Given the description of an element on the screen output the (x, y) to click on. 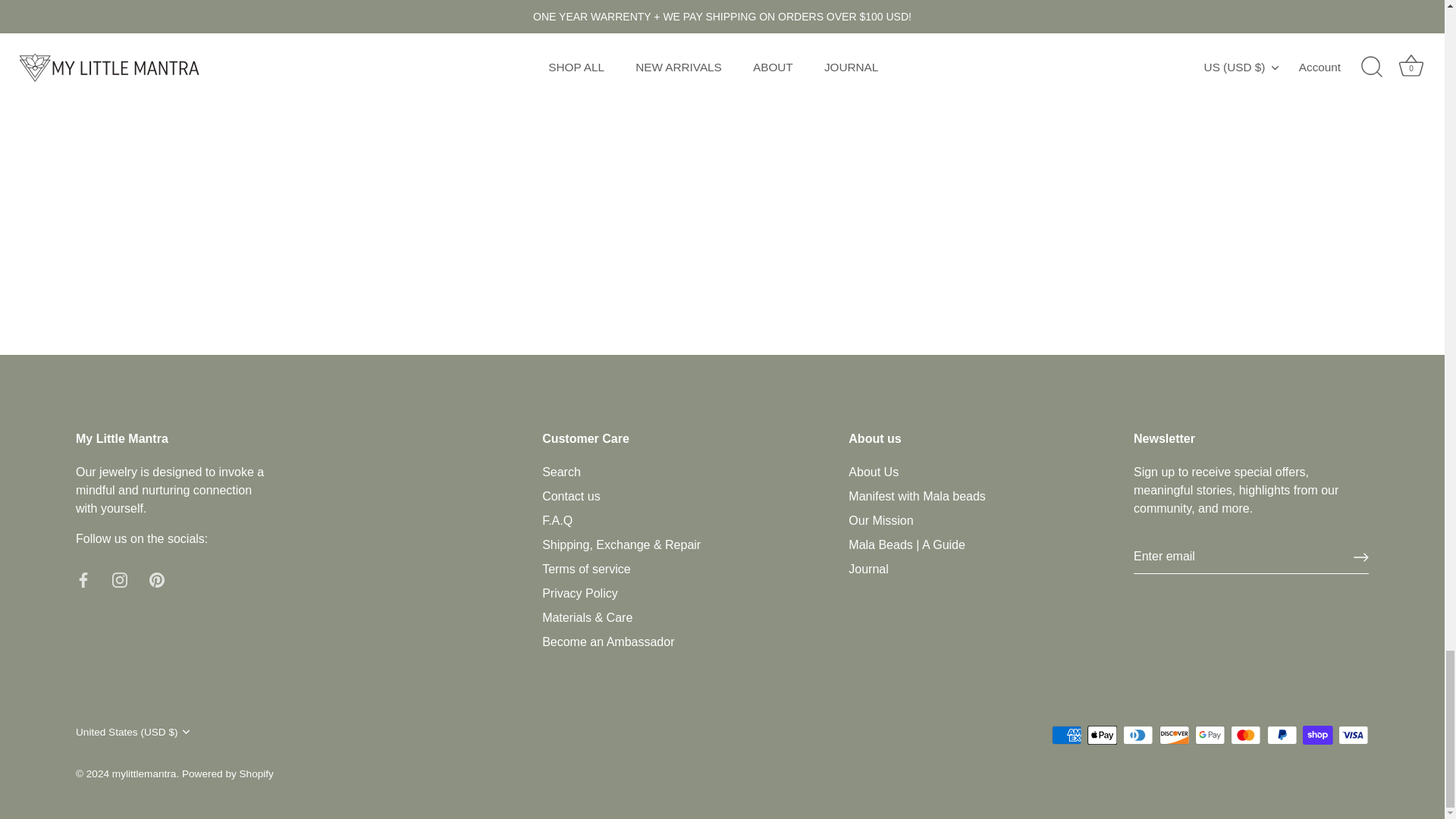
Diners Club (1137, 734)
American Express (1066, 734)
Instagram (120, 580)
Discover (1173, 734)
Apple Pay (1101, 734)
RIGHT ARROW LONG (1361, 557)
Google Pay (1209, 734)
Pinterest (156, 580)
Shop Pay (1317, 734)
Visa (1353, 734)
